Given the description of an element on the screen output the (x, y) to click on. 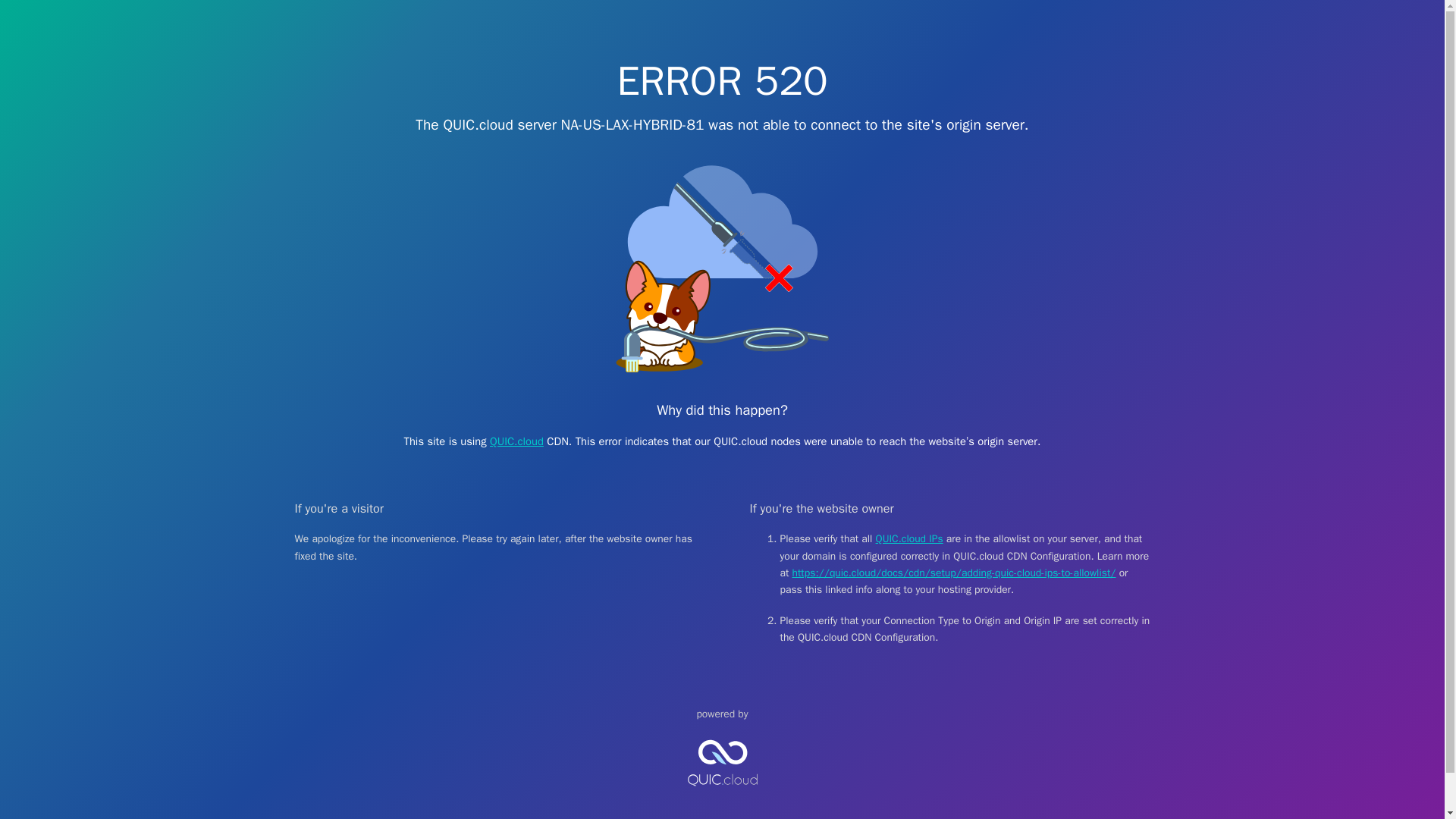
QUIC.cloud IPs (909, 538)
QUIC.cloud (721, 798)
QUIC.cloud (516, 440)
